Given the description of an element on the screen output the (x, y) to click on. 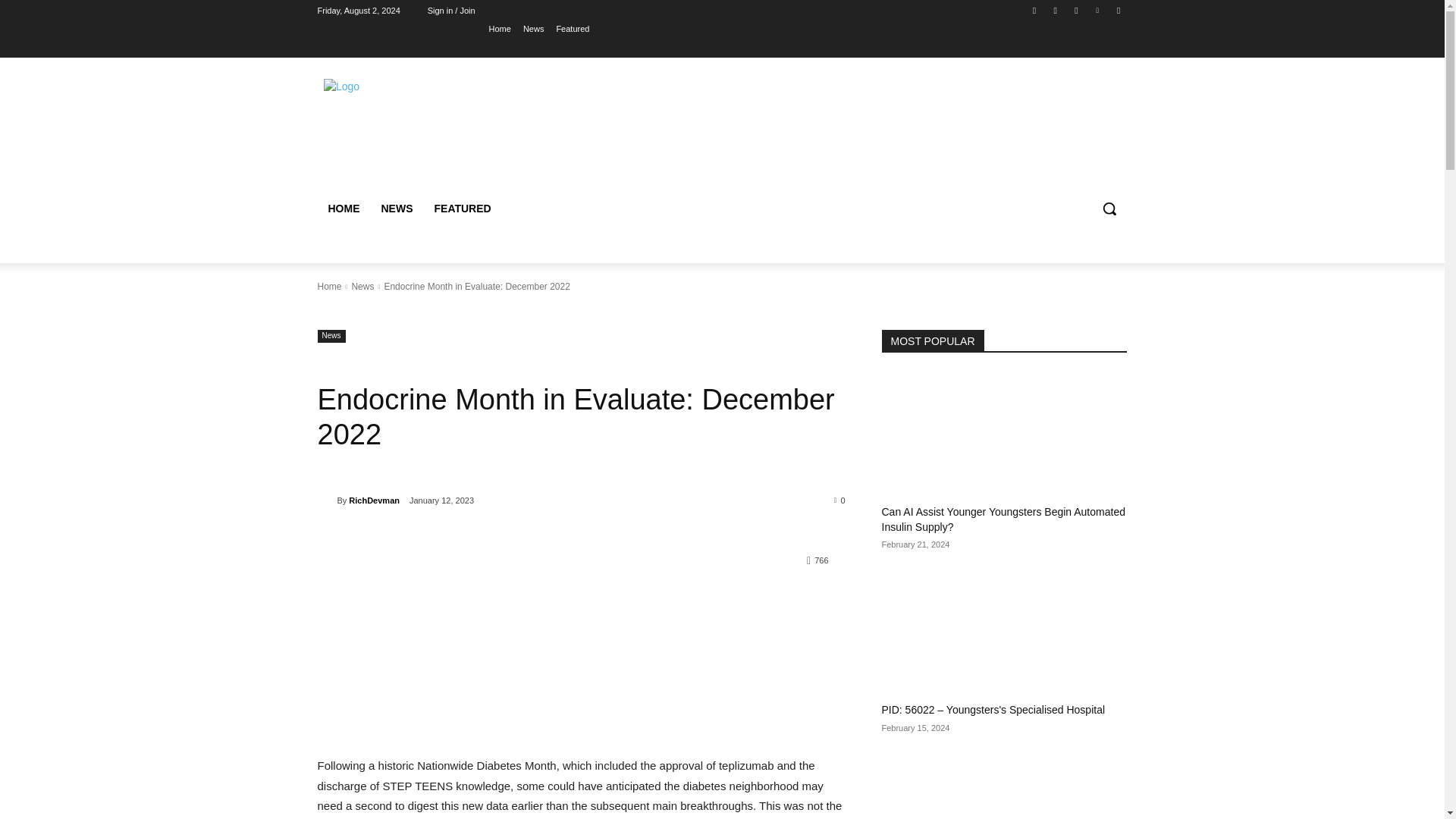
View all posts in News (362, 286)
Youtube (1117, 9)
Home (328, 286)
Instagram (1055, 9)
News (533, 28)
News (331, 336)
NEWS (396, 208)
Featured (572, 28)
News (362, 286)
0 (839, 499)
FEATURED (461, 208)
Twitter (1075, 9)
RichDevman (326, 500)
Vimeo (1097, 9)
RichDevman (373, 499)
